Given the description of an element on the screen output the (x, y) to click on. 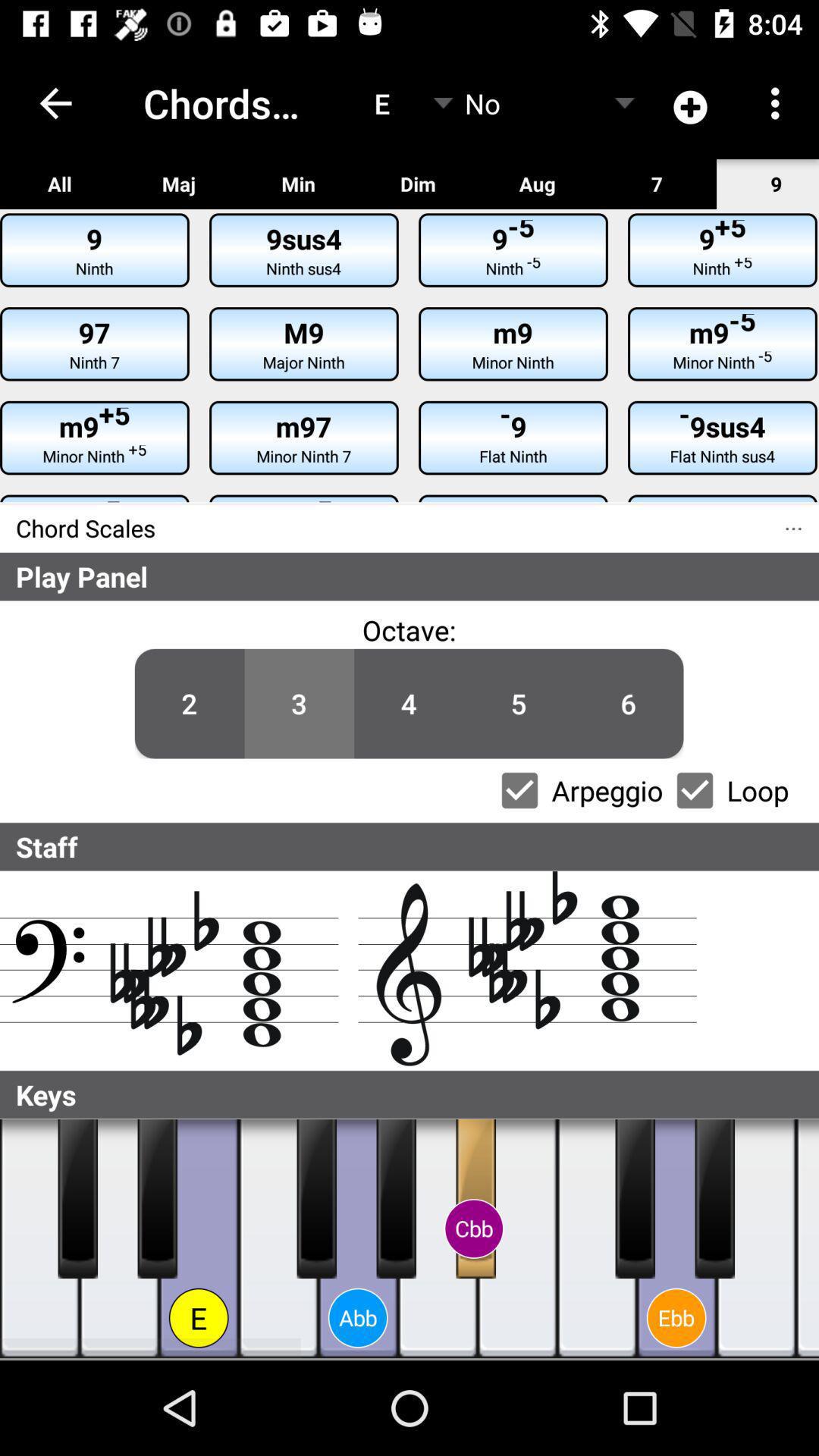
turn off icon next to 5 item (409, 629)
